Given the description of an element on the screen output the (x, y) to click on. 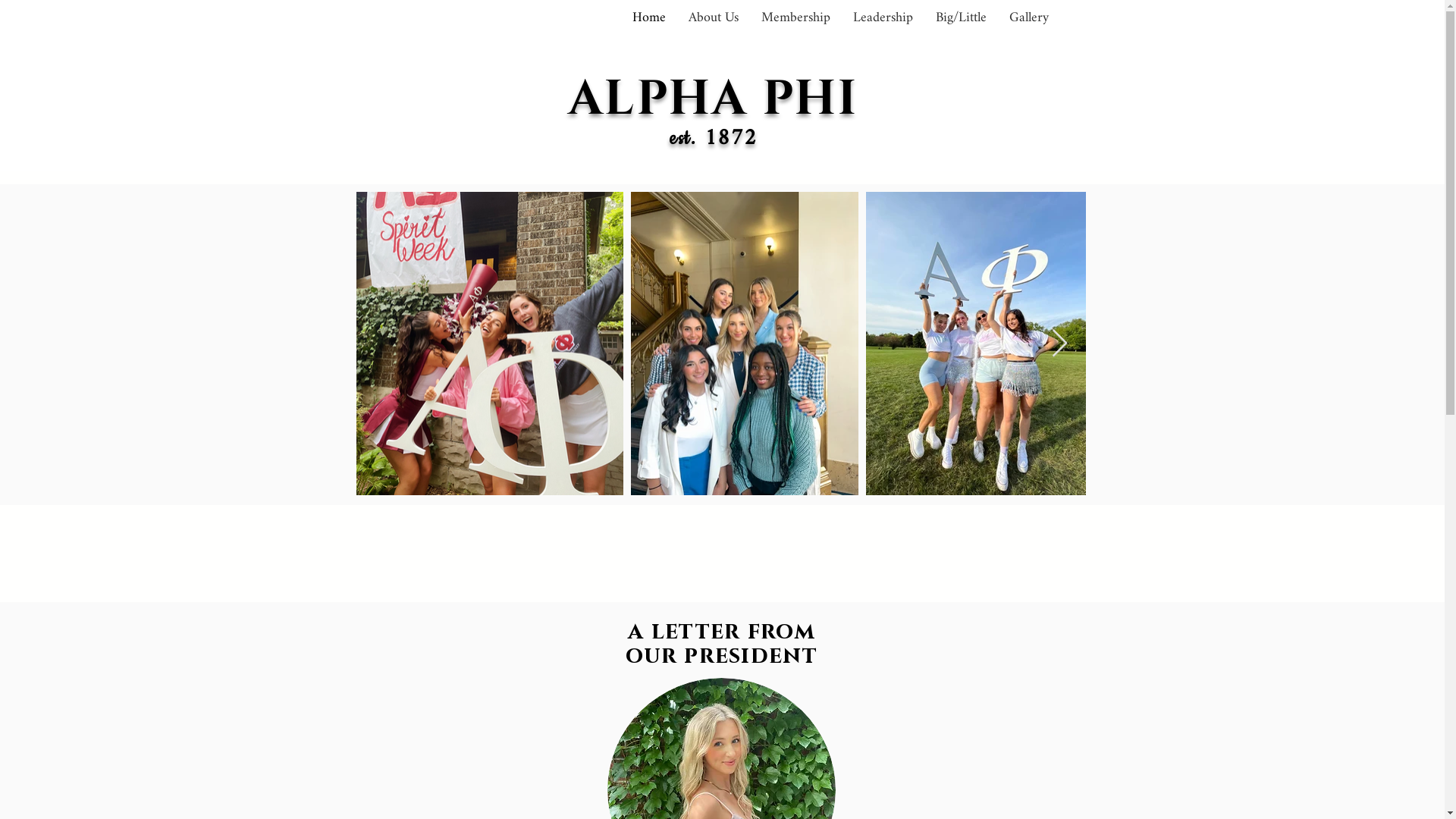
About Us Element type: text (712, 18)
Membership Element type: text (794, 18)
Big/Little Element type: text (960, 18)
Leadership Element type: text (882, 18)
Gallery Element type: text (1028, 18)
Home Element type: text (648, 18)
